Given the description of an element on the screen output the (x, y) to click on. 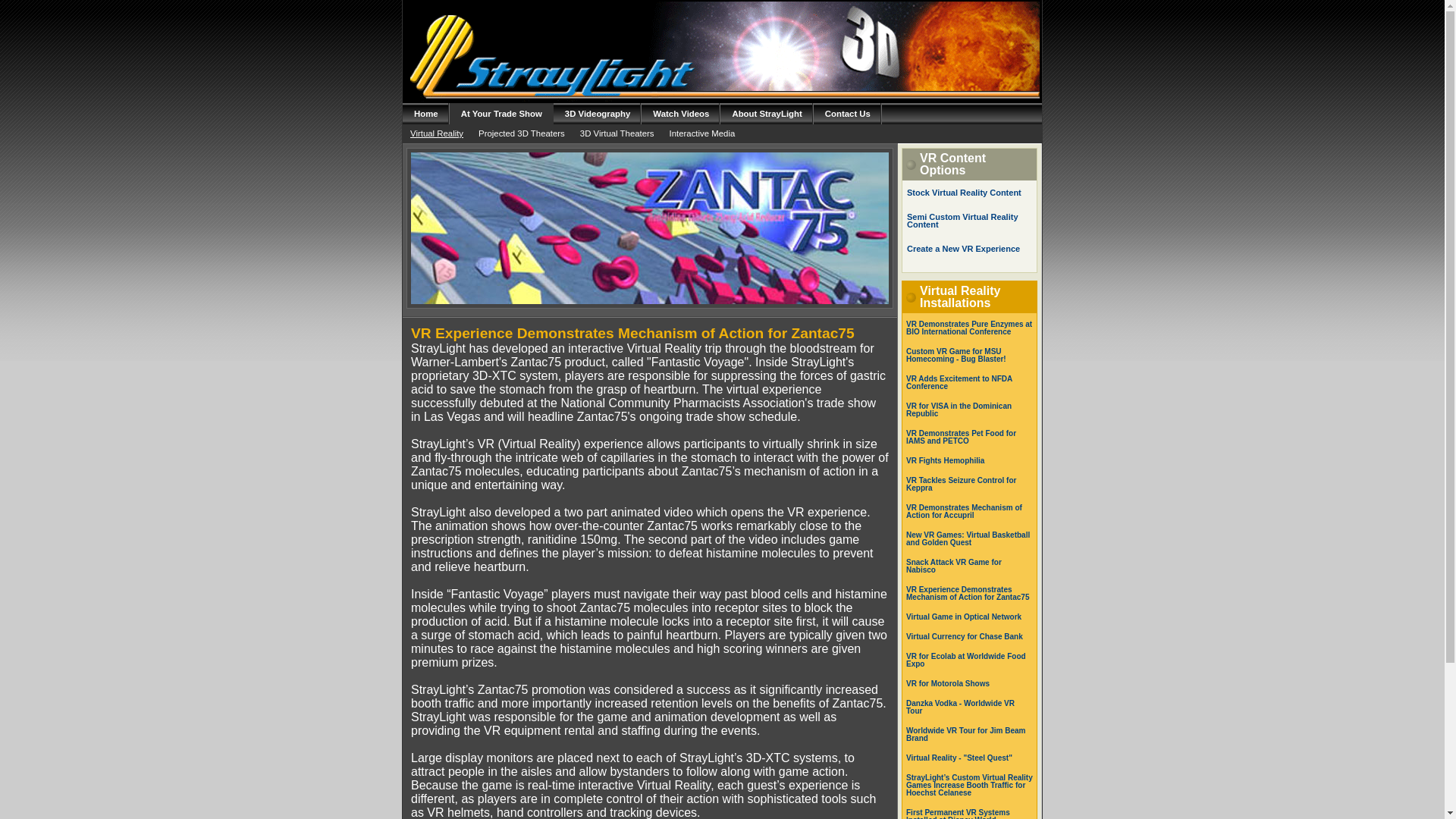
Semi Custom Virtual Reality Content (962, 220)
Snack Attack VR Game for Nabisco (953, 565)
New VR Games: Virtual Basketball and Golden Quest (967, 538)
Danzka Vodka - Worldwide VR Tour (959, 706)
Custom VR Game for MSU Homecoming - Bug Blaster! (955, 355)
Projected 3D Theaters (521, 133)
First Permanent VR Systems Installed at Disney World (957, 813)
Watch Videos (681, 113)
About StrayLight (766, 113)
Contact Us (847, 113)
VR Fights Hemophilia (944, 460)
Virtual Reality - "Steel Quest" (958, 757)
3D Videography (597, 113)
VR for Motorola Shows (947, 683)
VR Adds Excitement to NFDA Conference (958, 382)
